Given the description of an element on the screen output the (x, y) to click on. 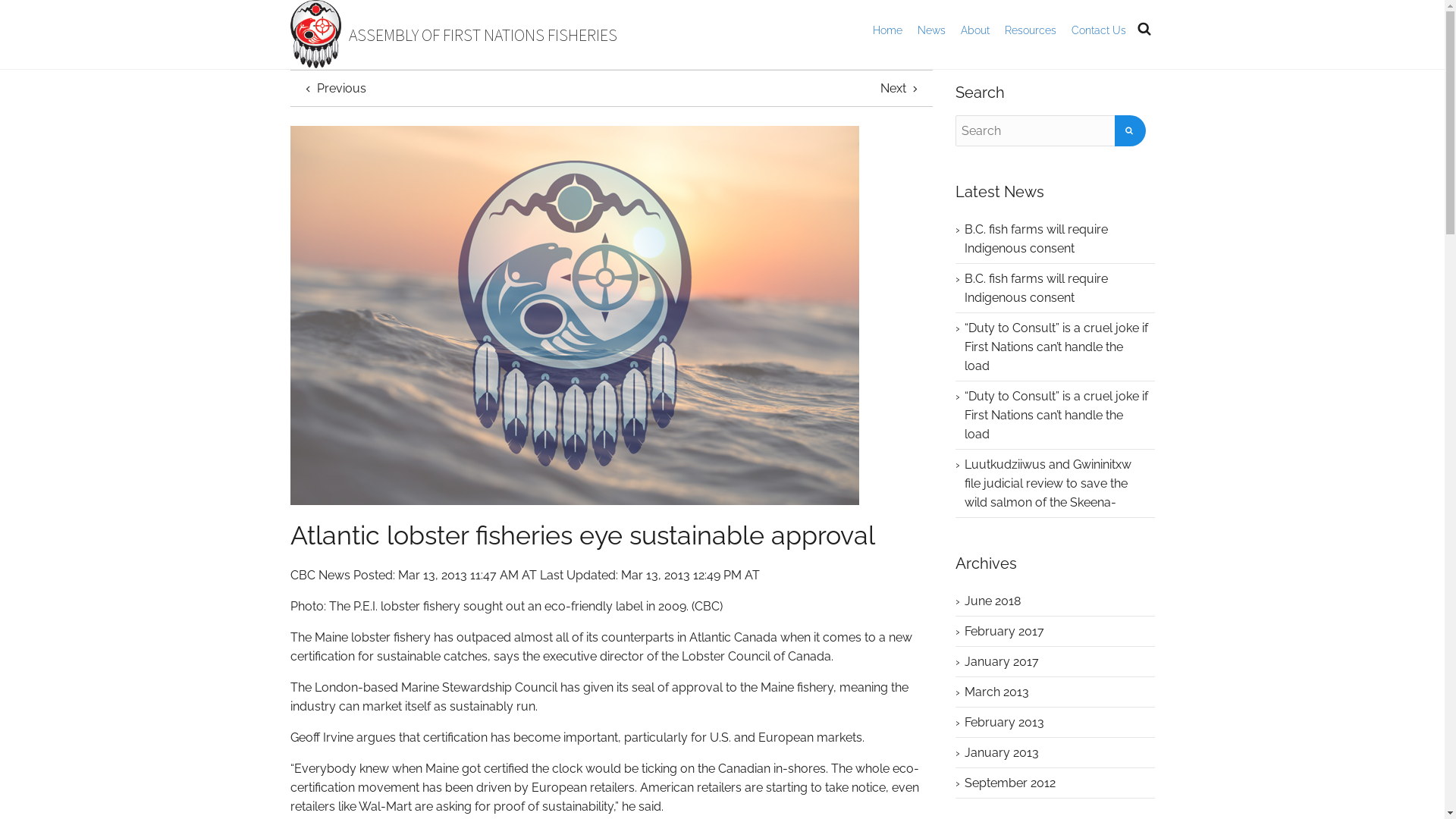
B.C. fish farms will require Indigenous consent Element type: text (1035, 238)
September 2012 Element type: text (1009, 782)
Previous Element type: text (332, 88)
Next Element type: text (900, 88)
Resources Element type: text (1029, 30)
Search Element type: hover (1129, 130)
About Element type: text (974, 30)
Home Element type: text (886, 30)
Search Element type: text (1129, 130)
January 2013 Element type: text (1001, 752)
B.C. fish farms will require Indigenous consent Element type: text (1035, 287)
News Element type: text (931, 30)
January 2017 Element type: text (1001, 661)
March 2013 Element type: text (996, 691)
June 2018 Element type: text (992, 600)
February 2013 Element type: text (1004, 722)
Atlantic lobster fisheries eye sustainable approval Element type: hover (573, 315)
February 2017 Element type: text (1004, 631)
Contact Us Element type: text (1097, 30)
